Given the description of an element on the screen output the (x, y) to click on. 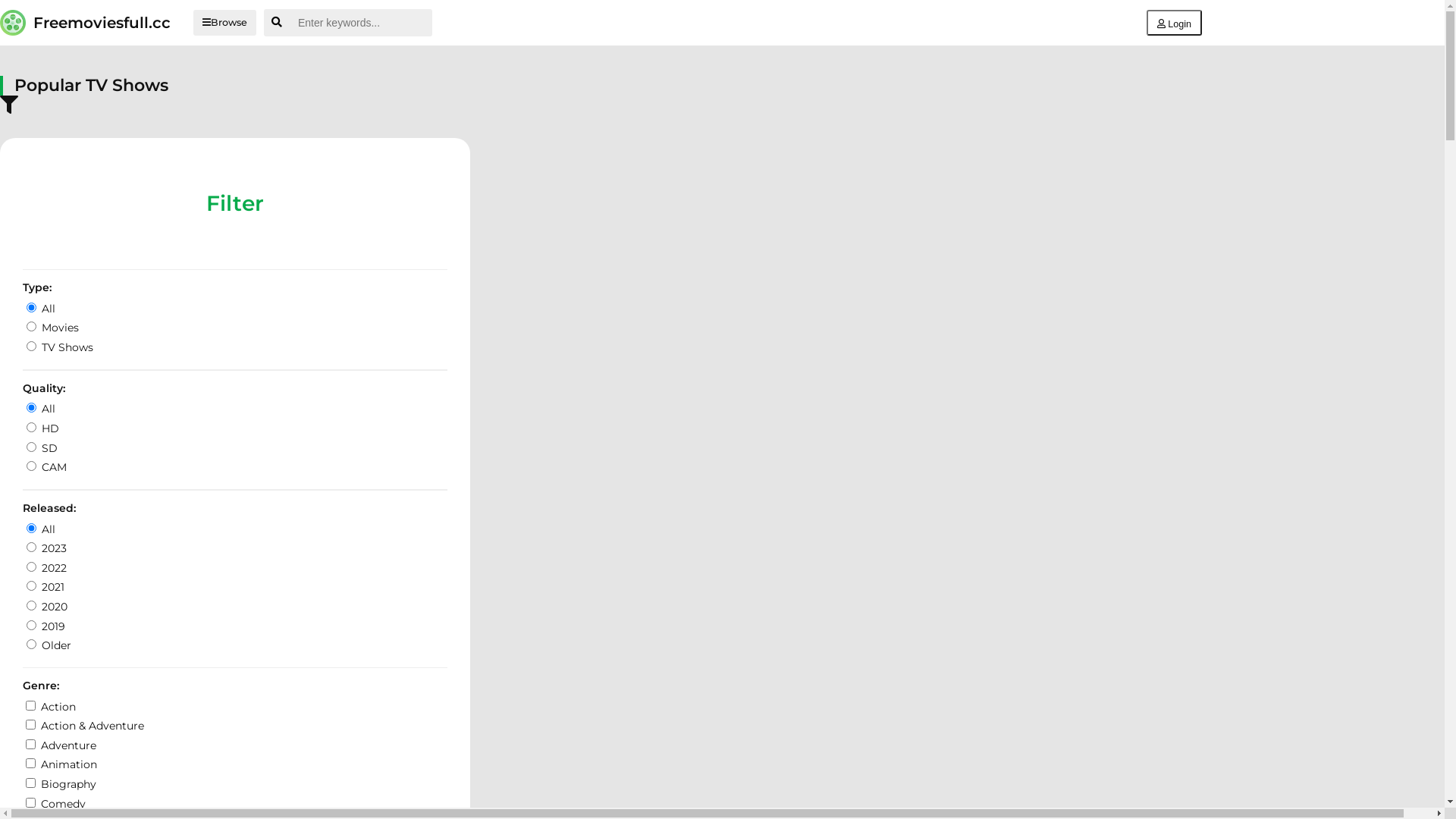
Freemoviesfull.cc Element type: text (85, 22)
Login Element type: text (1173, 22)
